Given the description of an element on the screen output the (x, y) to click on. 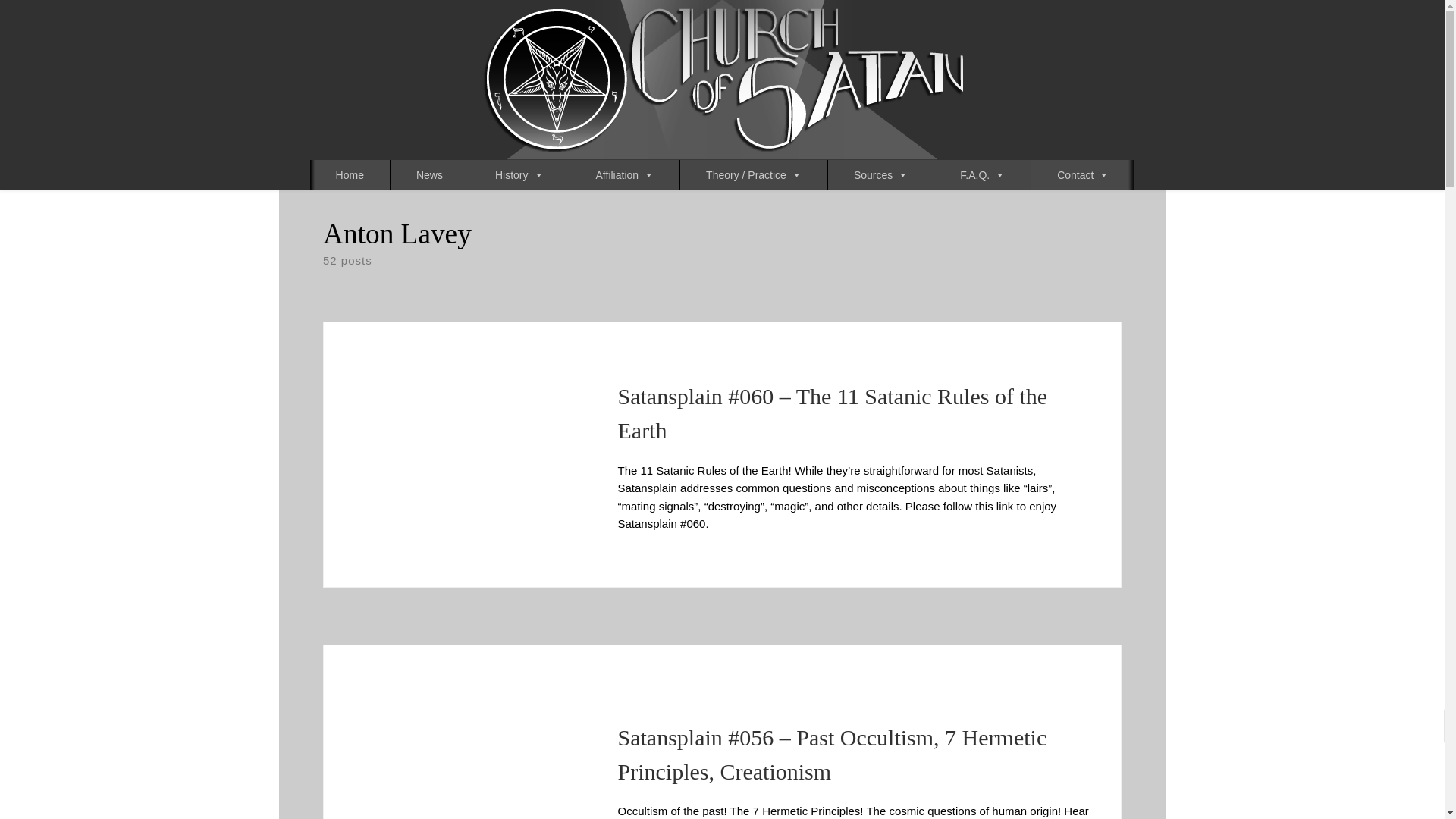
Skip to content (60, 20)
Affiliation (624, 174)
History (518, 174)
News (429, 174)
Sources (880, 174)
Home (350, 174)
